Given the description of an element on the screen output the (x, y) to click on. 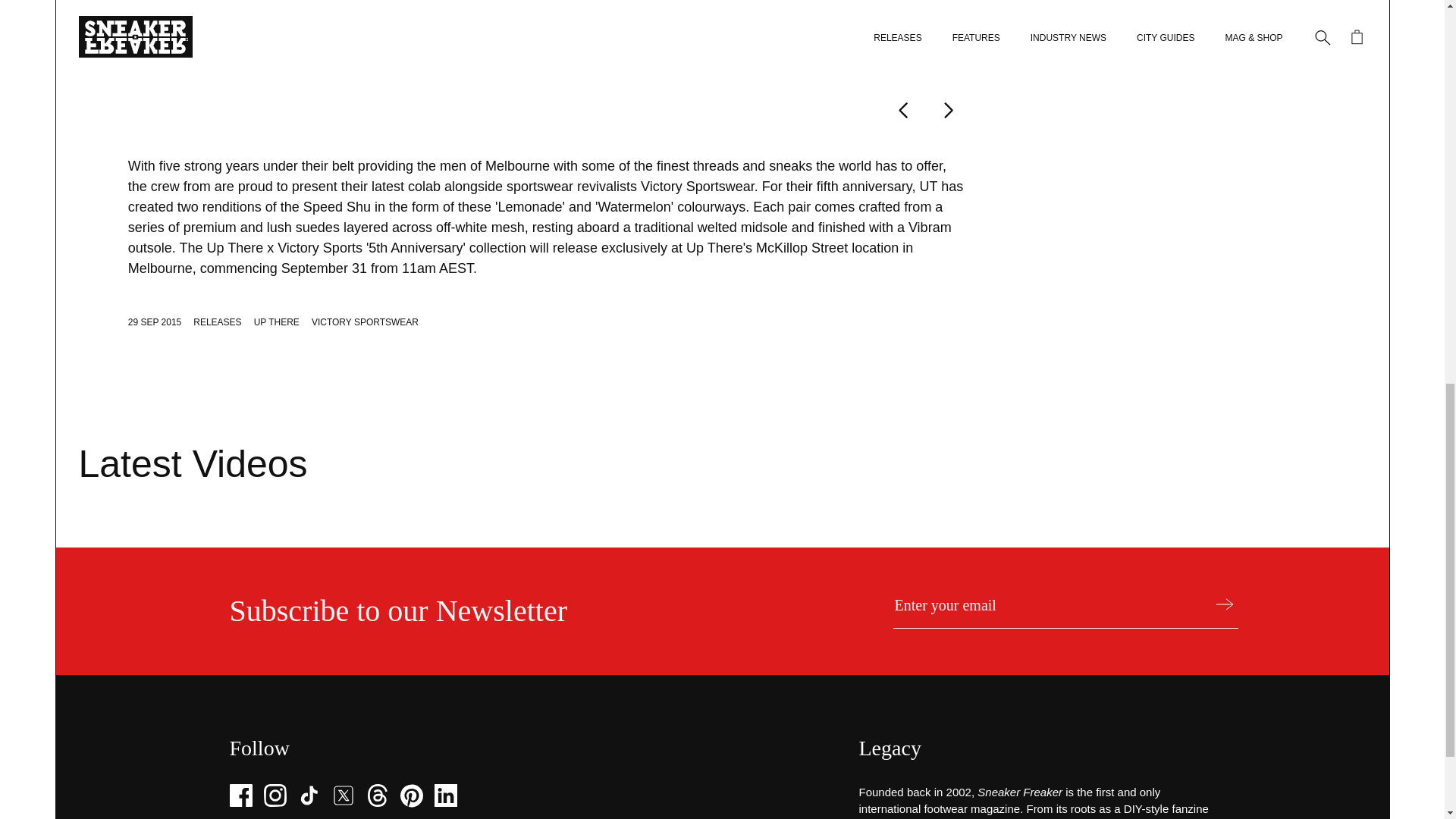
VICTORY SPORTSWEAR (365, 321)
RELEASES (217, 321)
UP THERE (276, 321)
